Given the description of an element on the screen output the (x, y) to click on. 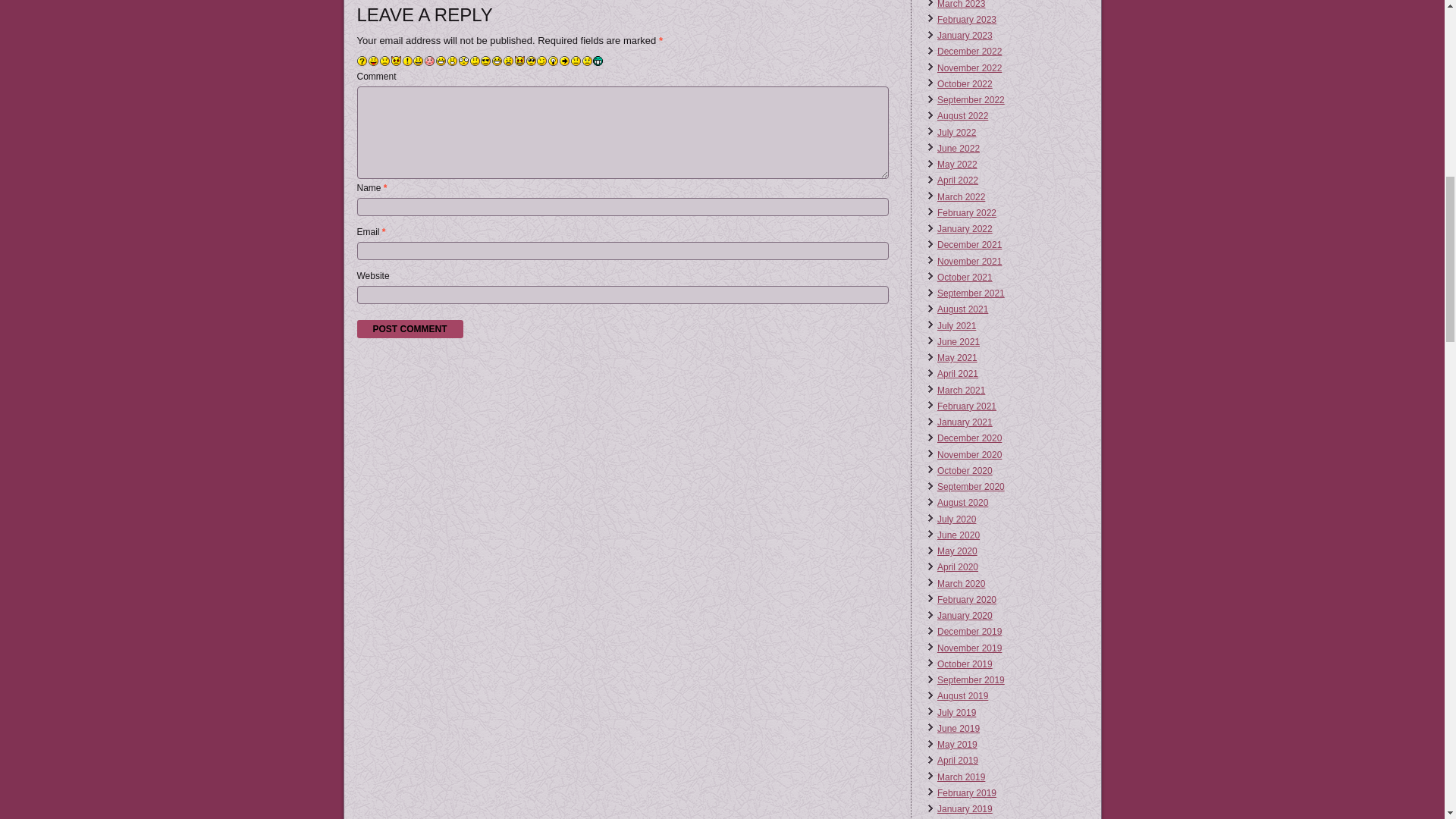
Post Comment (409, 329)
Post Comment (409, 329)
